Given the description of an element on the screen output the (x, y) to click on. 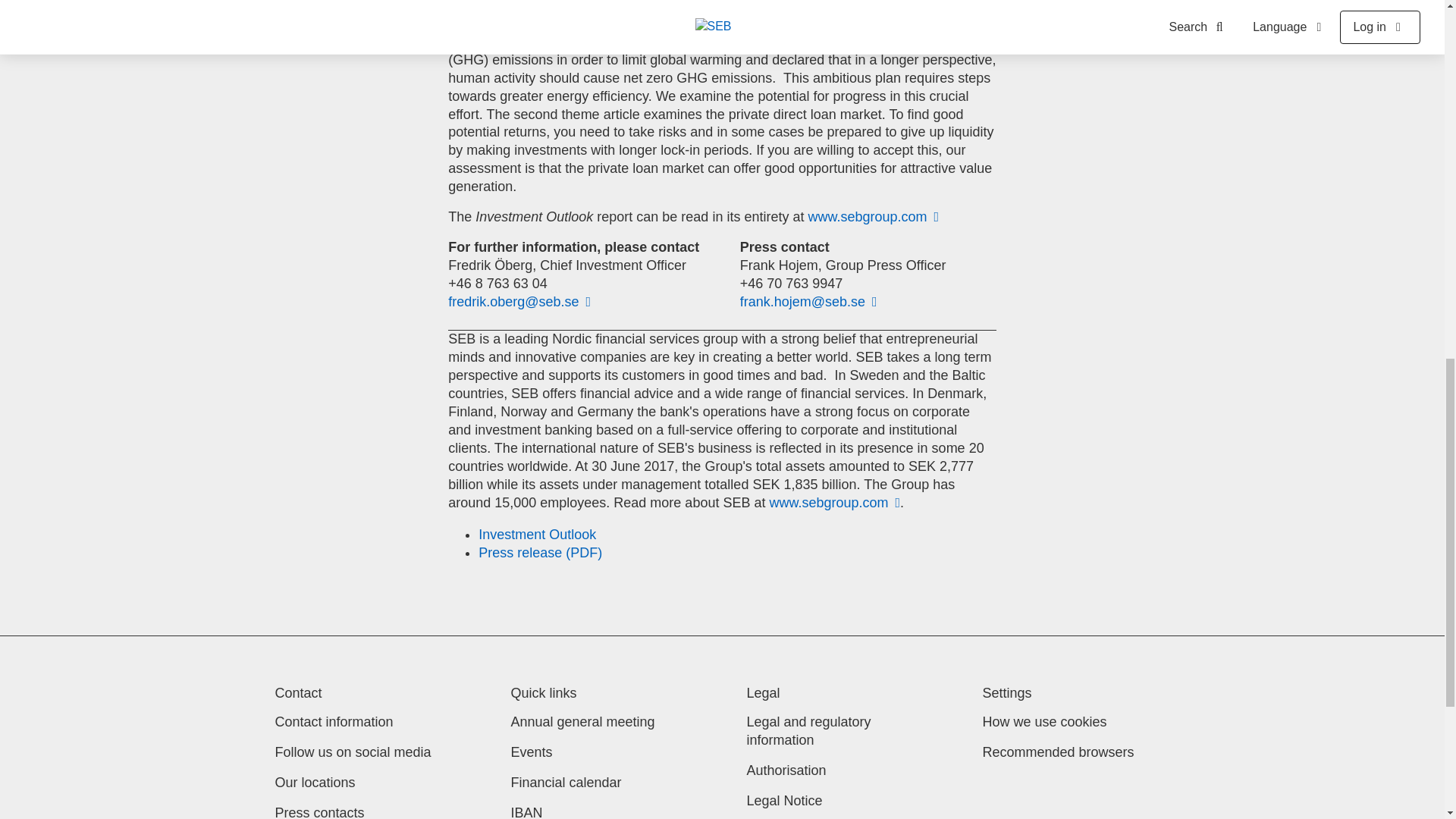
www.sebgroup.com (873, 216)
www.sebgroup.com (873, 216)
Annual general meeting (583, 721)
IBAN (527, 812)
Follow us on social media (352, 752)
Financial calendar (566, 782)
Contact information (334, 721)
www.sebgroup.com (833, 502)
Investment Outlook (537, 534)
Events (532, 752)
